Given the description of an element on the screen output the (x, y) to click on. 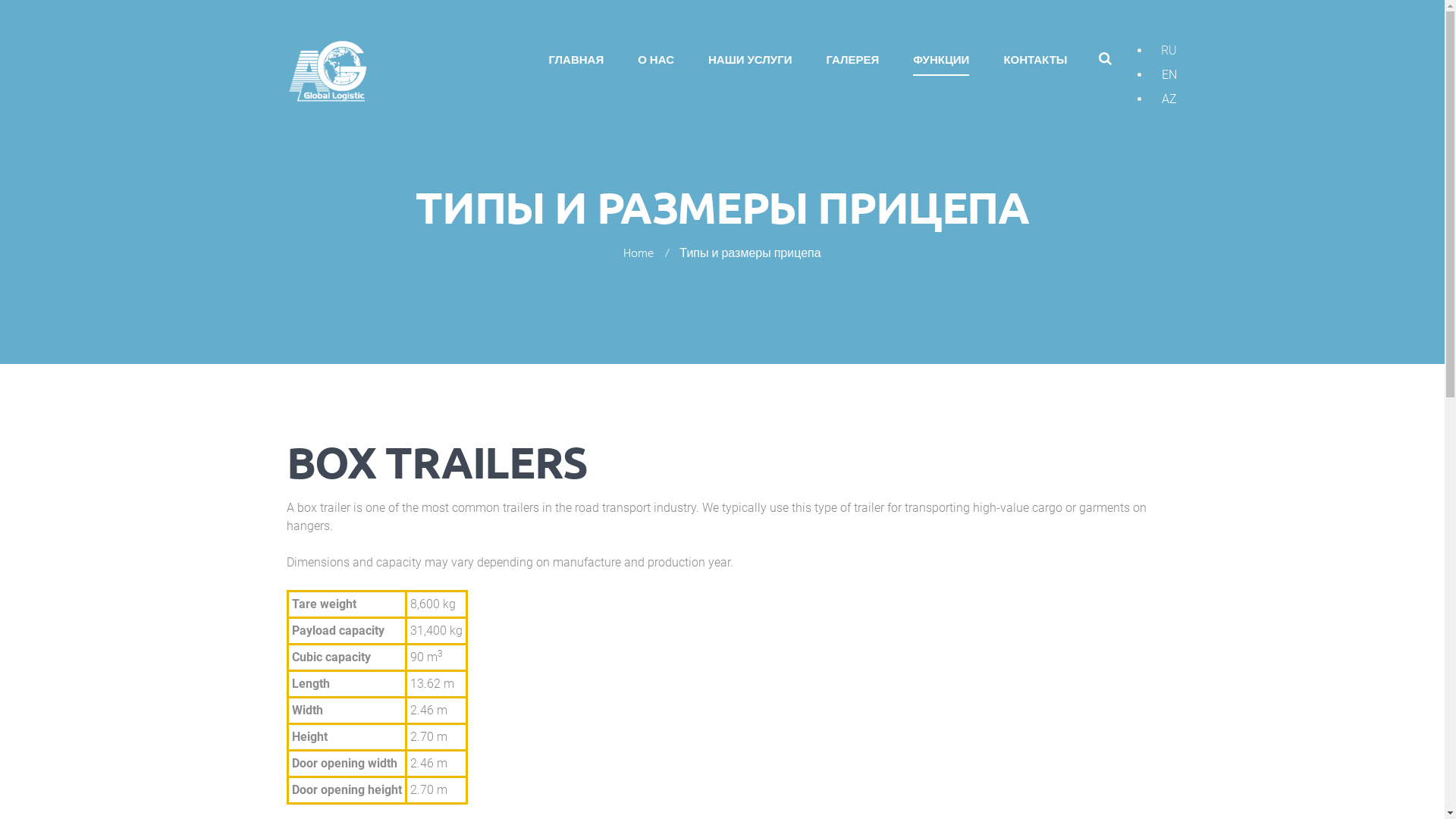
Open search Element type: hover (1104, 58)
EN Element type: text (1168, 74)
Home Element type: text (638, 254)
AZ Element type: text (1168, 98)
